Given the description of an element on the screen output the (x, y) to click on. 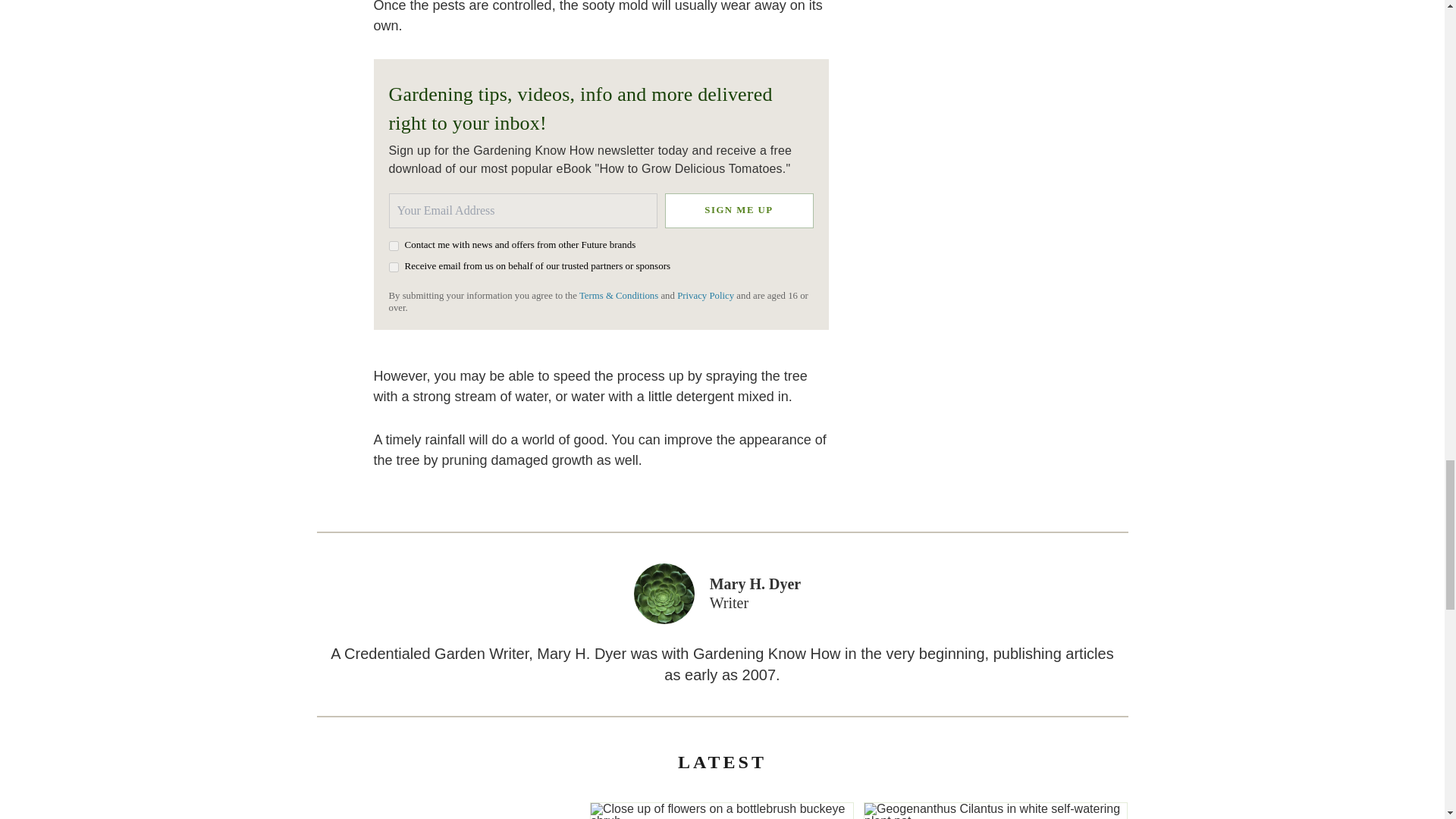
on (392, 245)
on (392, 266)
Sign me up (737, 209)
